Given the description of an element on the screen output the (x, y) to click on. 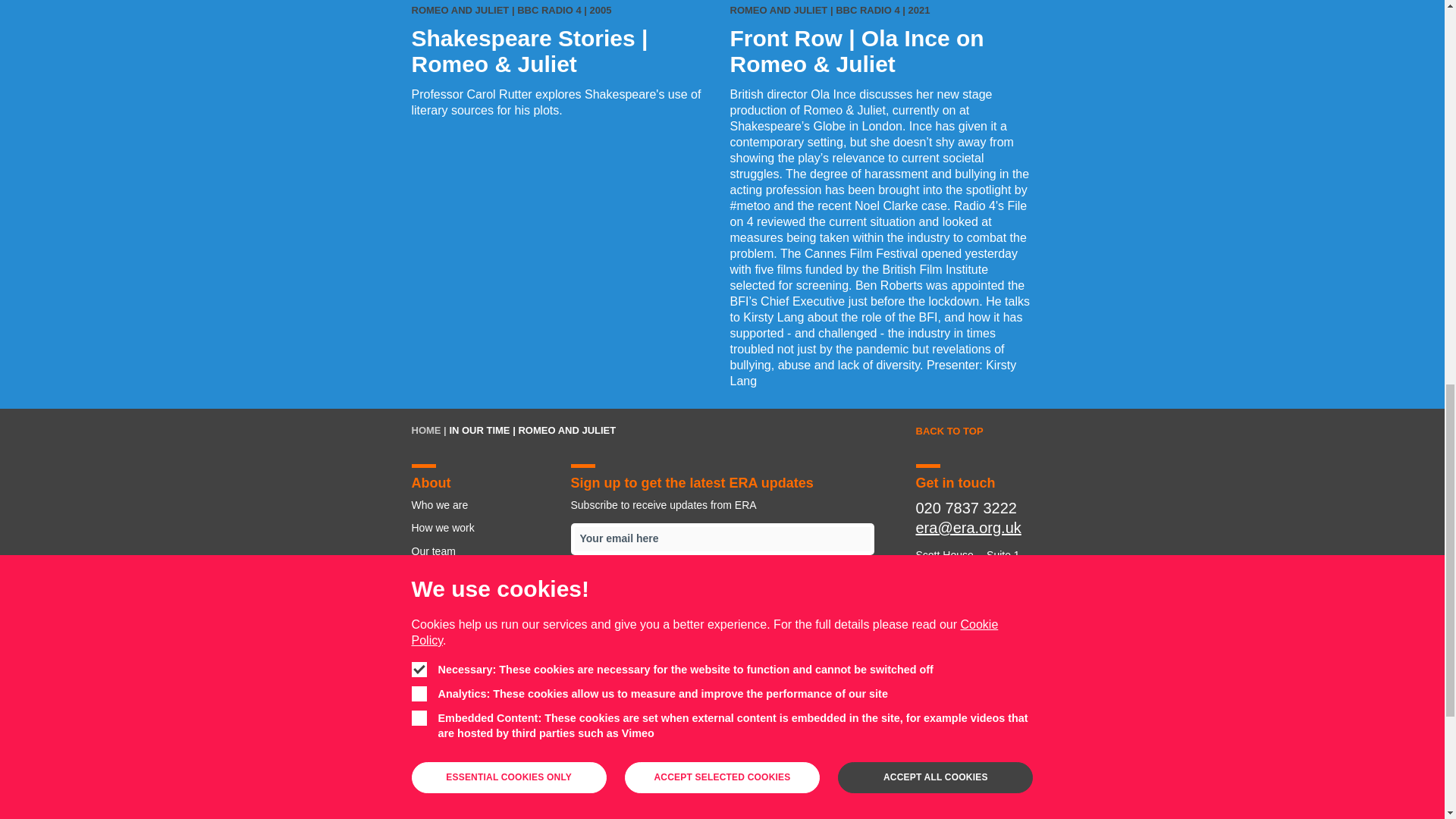
Sign Up (722, 584)
